Given the description of an element on the screen output the (x, y) to click on. 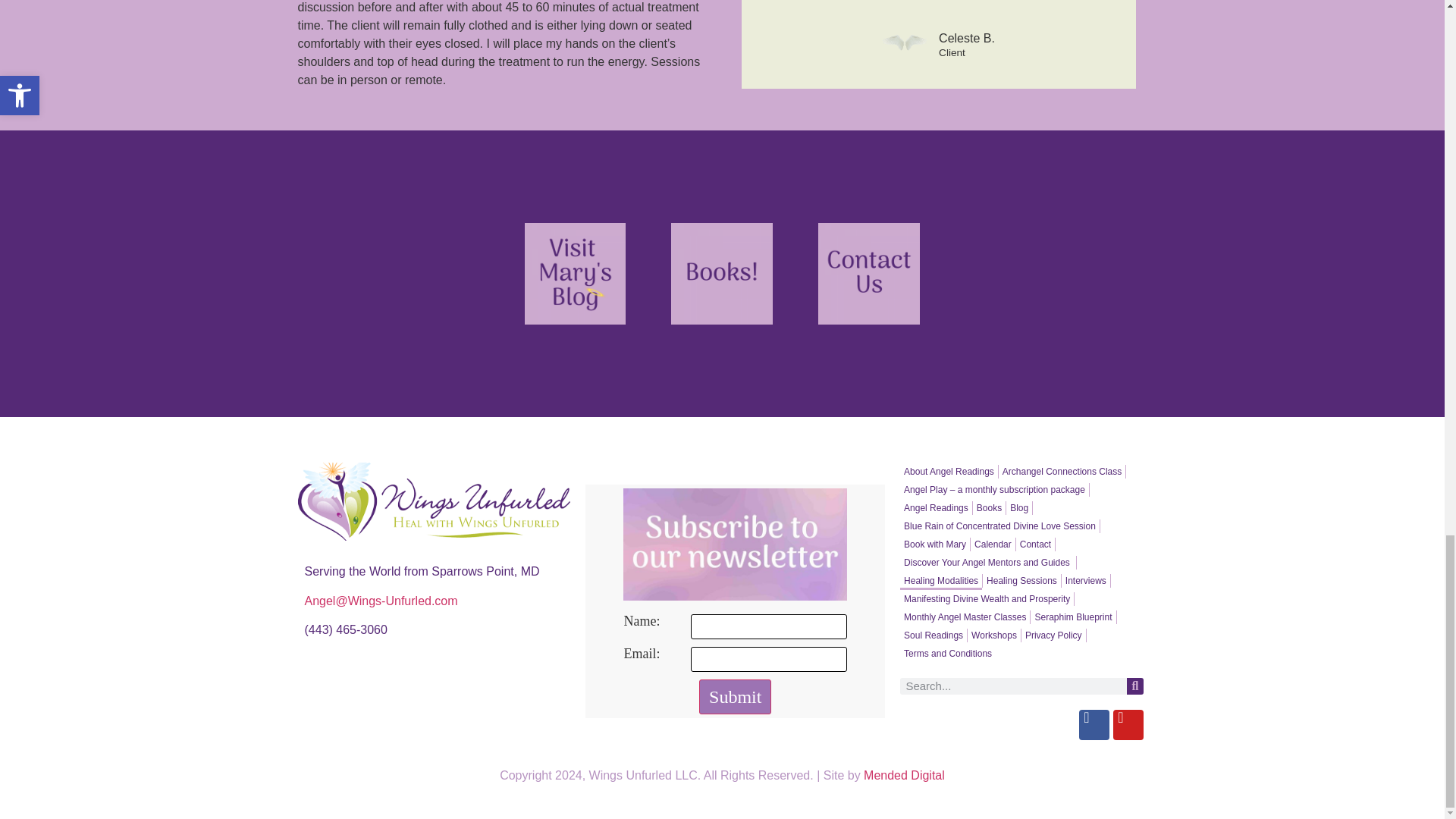
Submit (734, 696)
